Given the description of an element on the screen output the (x, y) to click on. 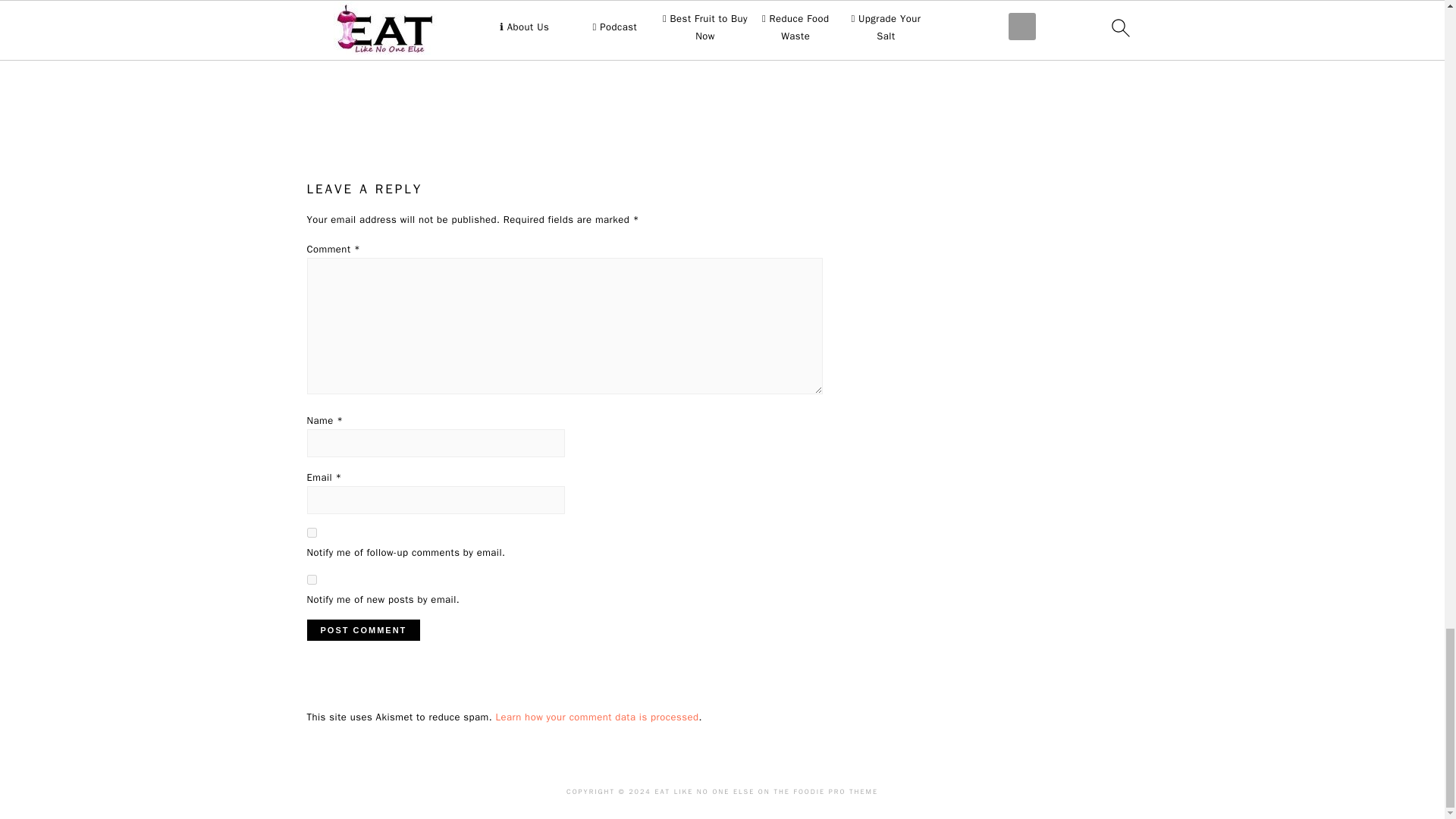
Post Comment (362, 629)
subscribe (310, 579)
subscribe (310, 532)
